Given the description of an element on the screen output the (x, y) to click on. 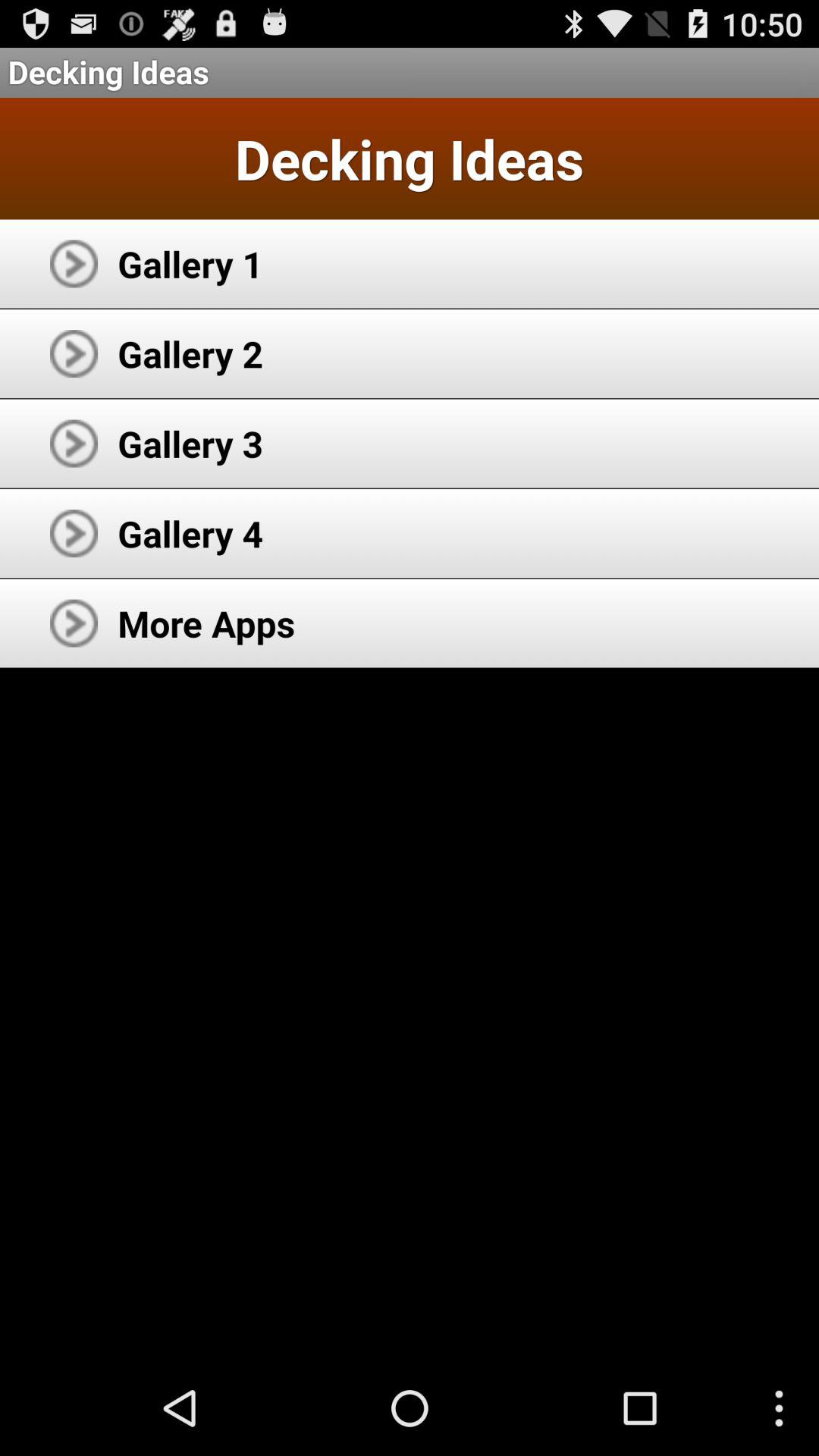
turn off icon above the gallery 4 (190, 443)
